Given the description of an element on the screen output the (x, y) to click on. 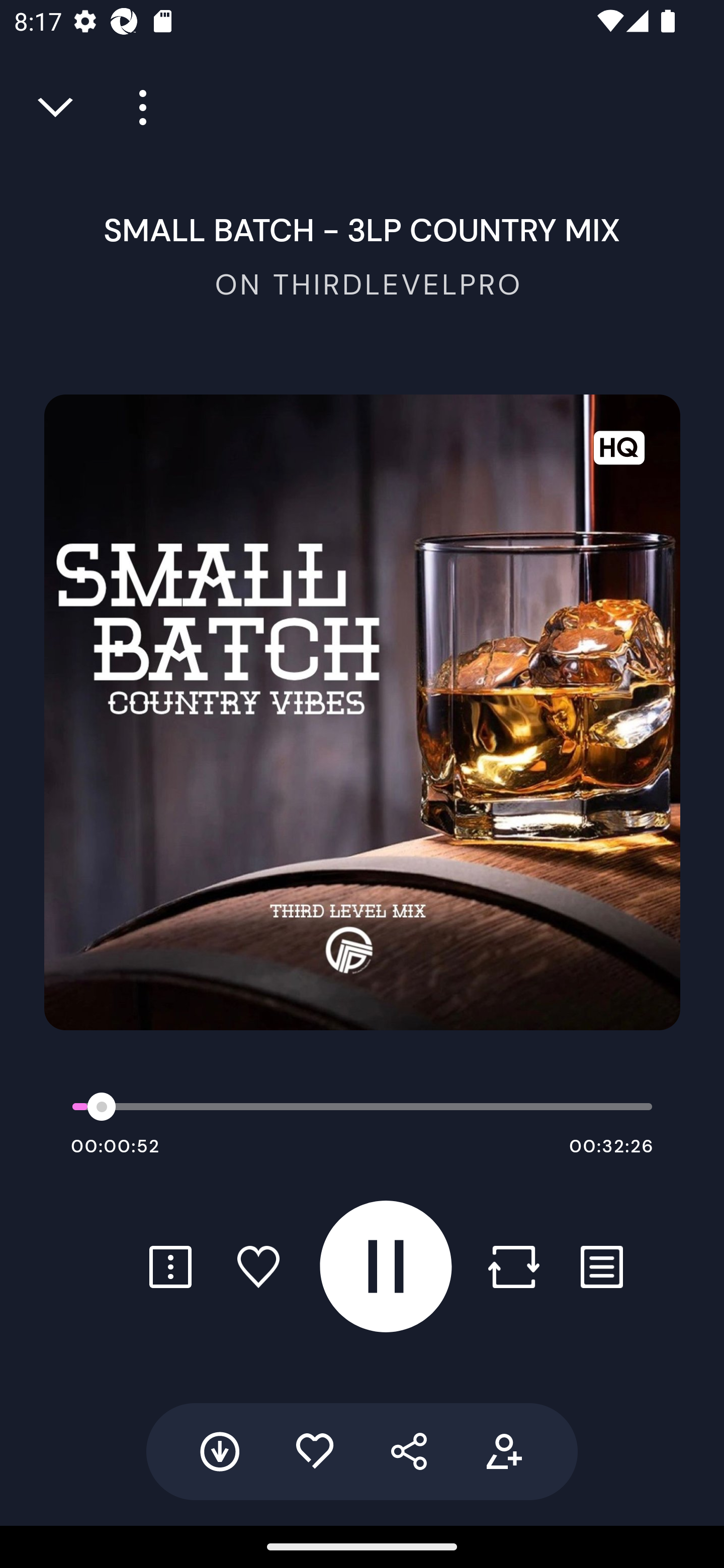
Close full player (57, 107)
Player more options button (136, 107)
Repost button (513, 1266)
